Given the description of an element on the screen output the (x, y) to click on. 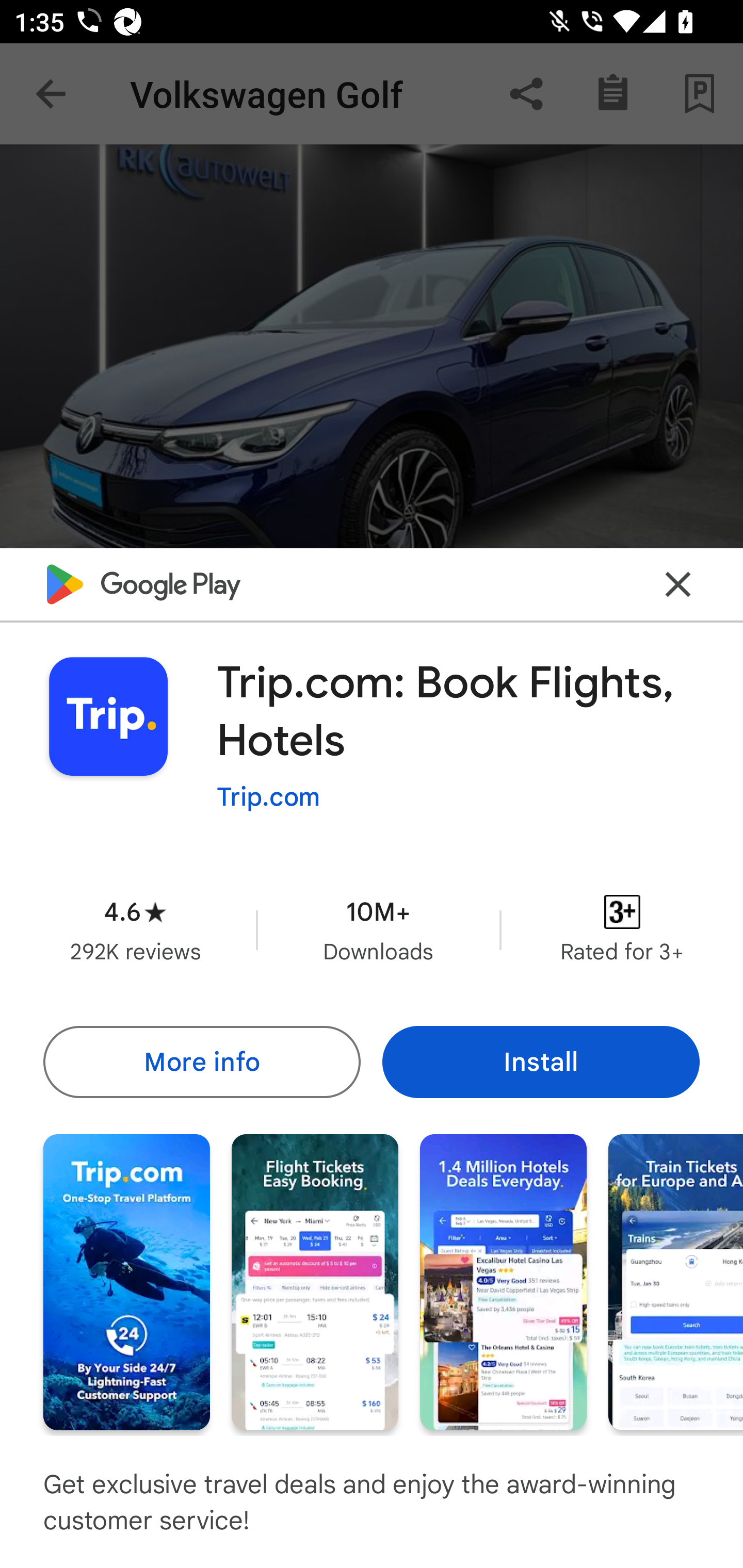
Close (677, 584)
Trip.com (268, 796)
More info (201, 1061)
Install (540, 1061)
Screenshot "1" of "8" (126, 1281)
Screenshot "2" of "8" (314, 1281)
Screenshot "3" of "8" (502, 1281)
Screenshot "4" of "8" (675, 1281)
